Given the description of an element on the screen output the (x, y) to click on. 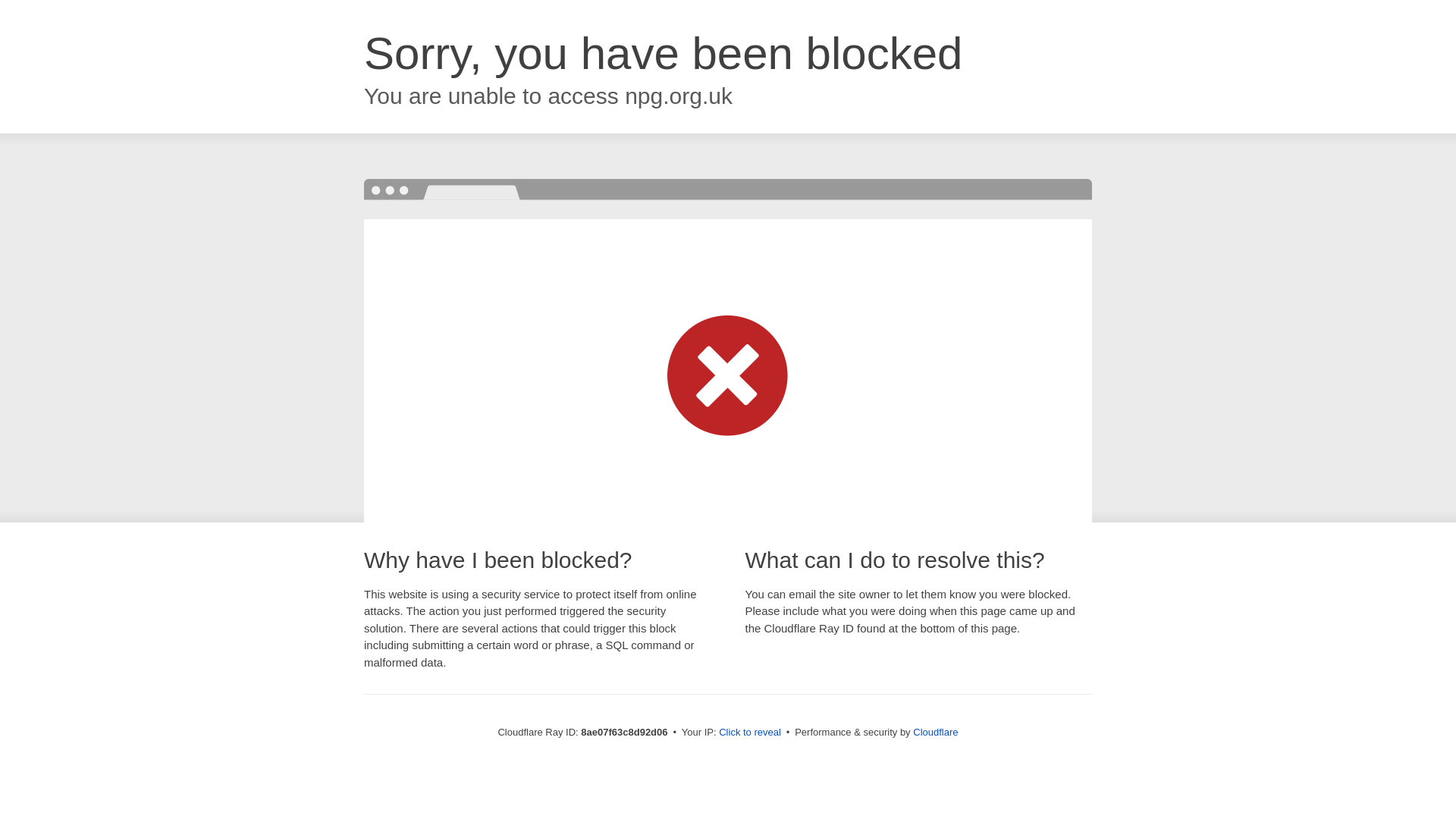
Cloudflare (935, 731)
Click to reveal (749, 732)
